Given the description of an element on the screen output the (x, y) to click on. 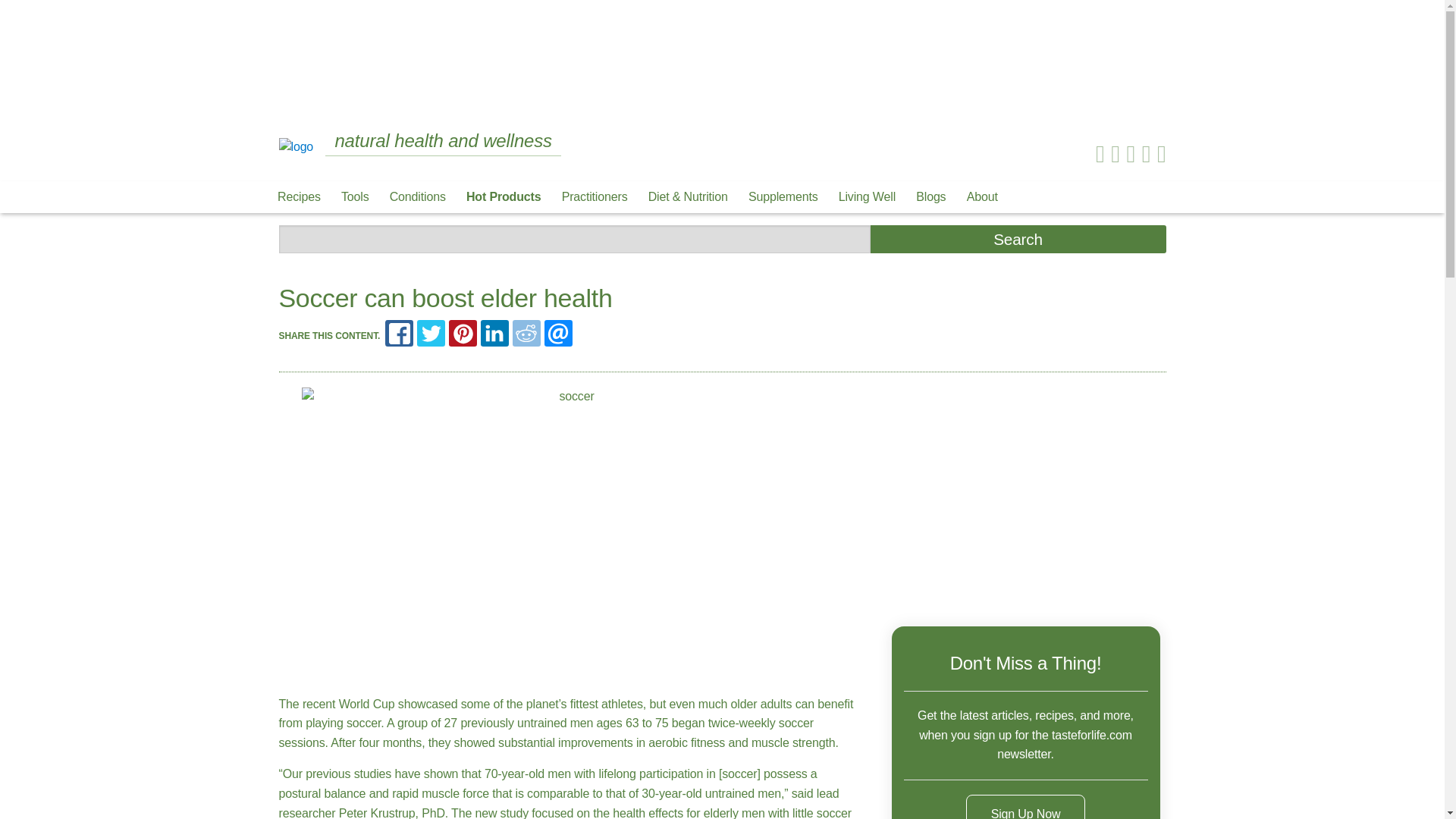
 Home (296, 147)
 Home (296, 146)
Enter the terms you wish to search for. (574, 239)
